Given the description of an element on the screen output the (x, y) to click on. 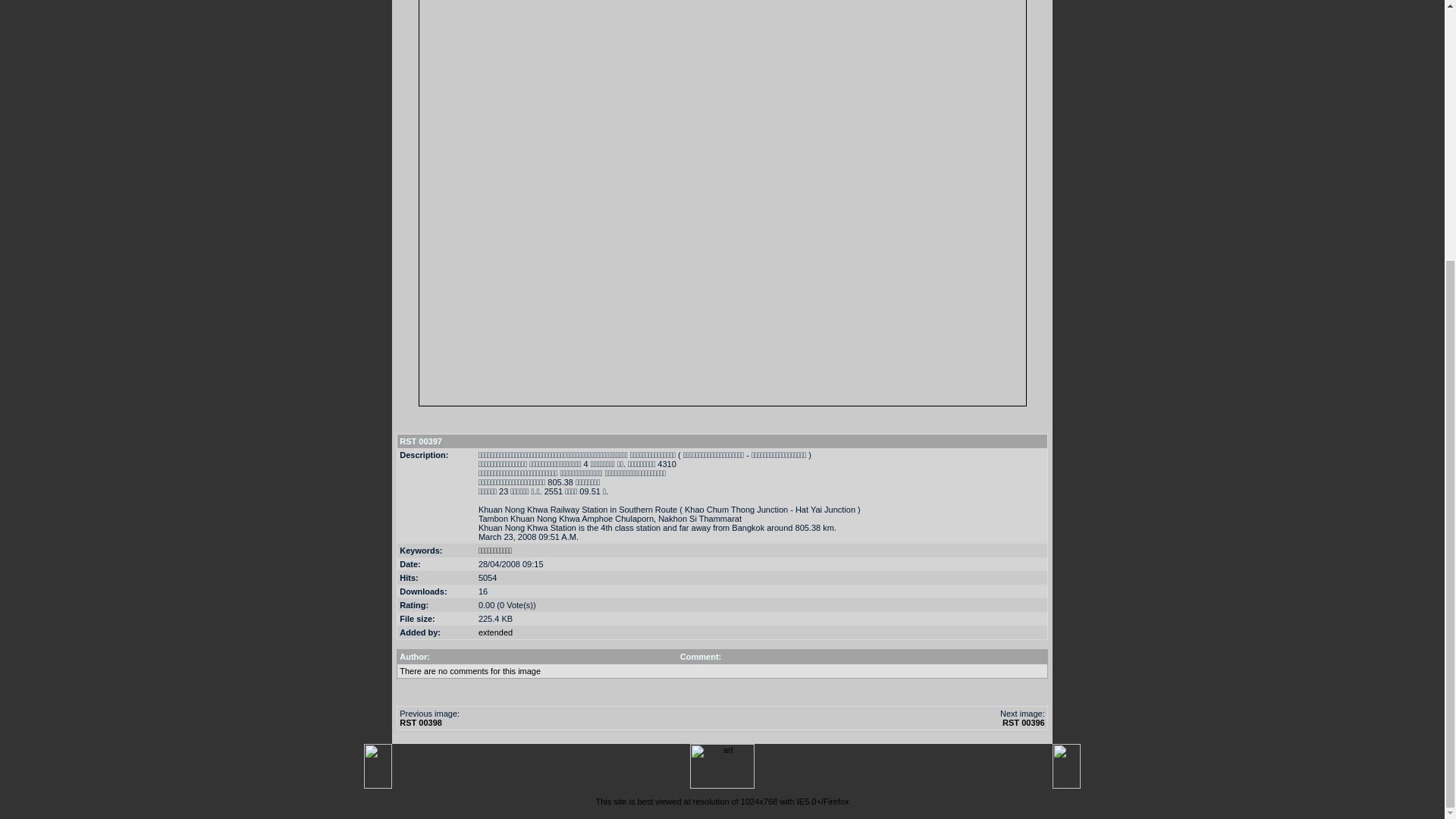
RST 00396 (1024, 722)
RST 00398 (420, 722)
extended (495, 632)
